Given the description of an element on the screen output the (x, y) to click on. 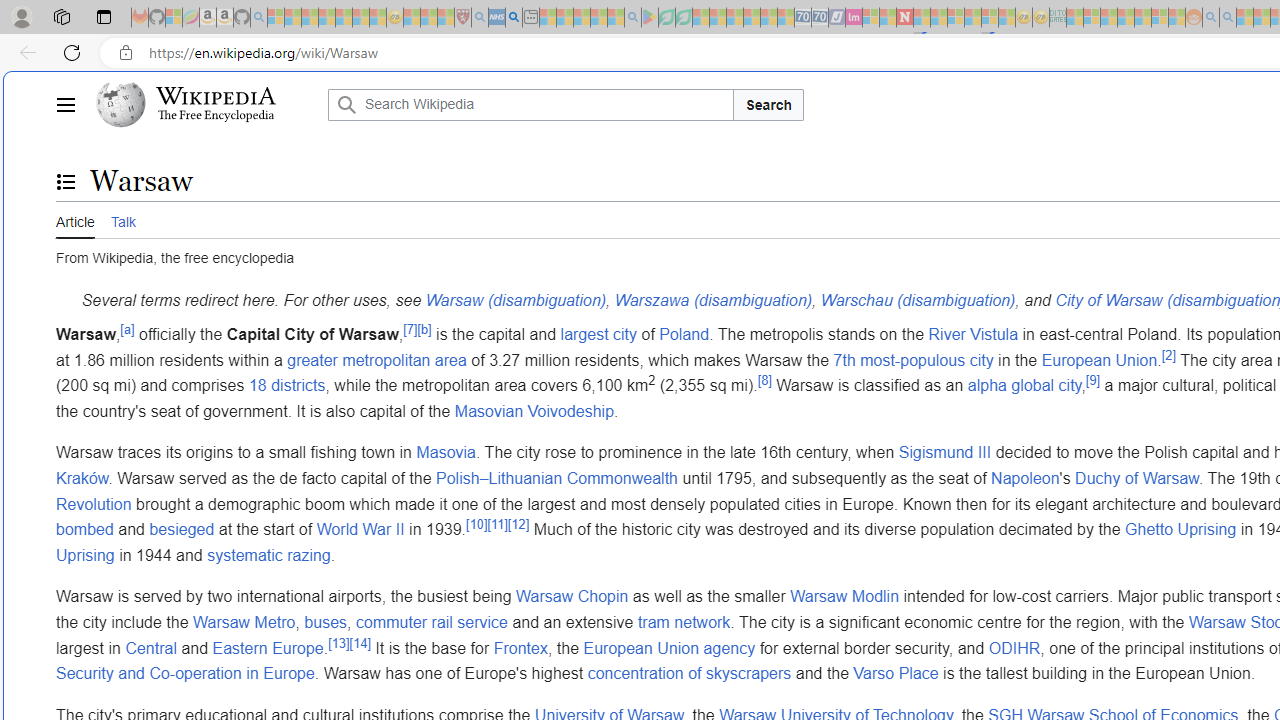
Ghetto Uprising (1180, 530)
[a] (127, 328)
Warszawa (disambiguation) (712, 301)
Article (75, 219)
buses (326, 621)
Frontex (519, 647)
Warsaw (disambiguation) (514, 301)
